Given the description of an element on the screen output the (x, y) to click on. 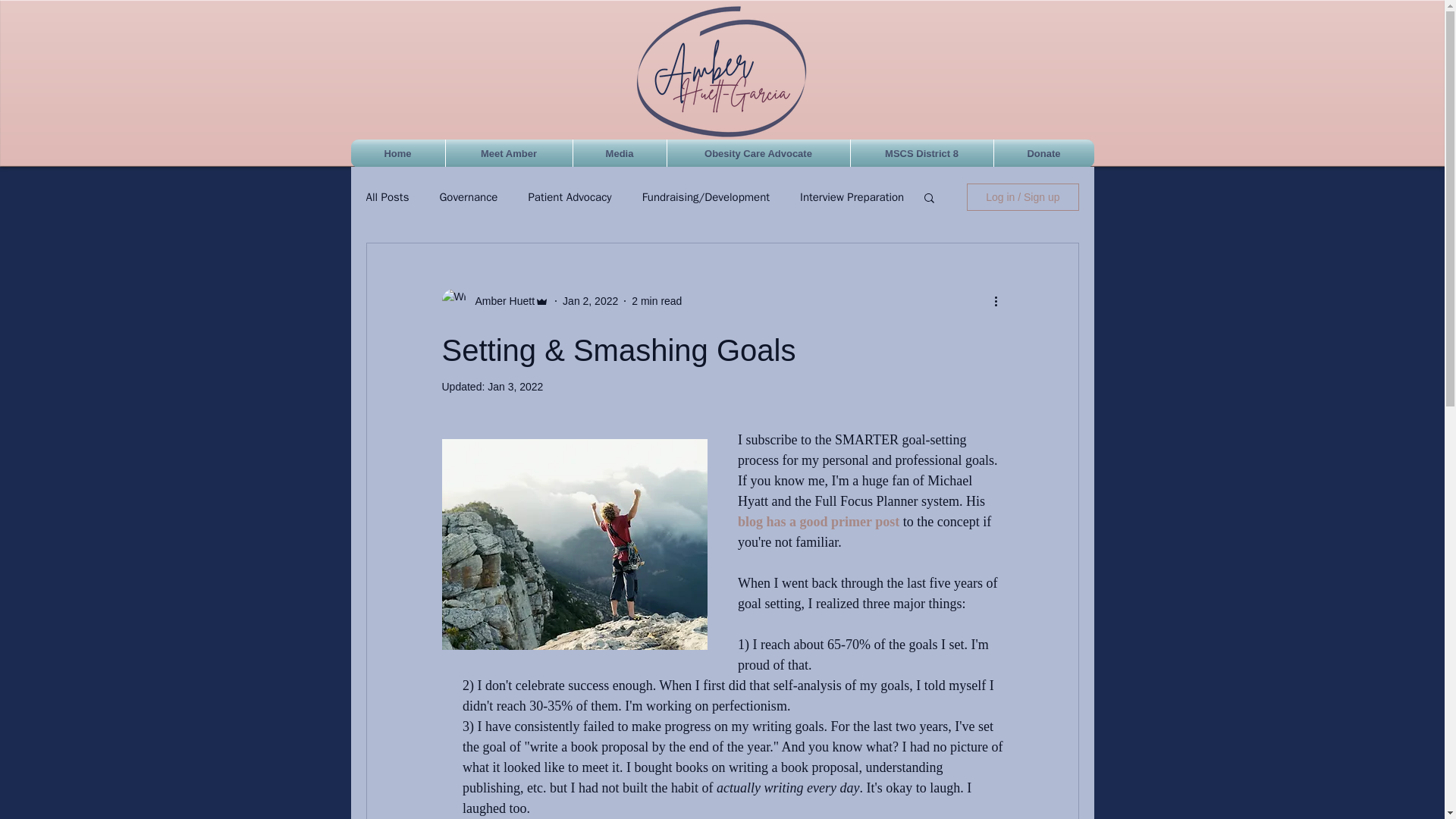
MSCS District 8 (921, 153)
Amber Huett (499, 300)
Meet Amber (508, 153)
All Posts (387, 196)
Governance (468, 196)
Jan 2, 2022 (589, 300)
Donate (1042, 153)
Media (619, 153)
2 min read (656, 300)
blog has a good primer post (817, 521)
Secondary Logo.png (720, 72)
Patient Advocacy (569, 196)
Home (397, 153)
Interview Preparation (851, 196)
Jan 3, 2022 (515, 386)
